Given the description of an element on the screen output the (x, y) to click on. 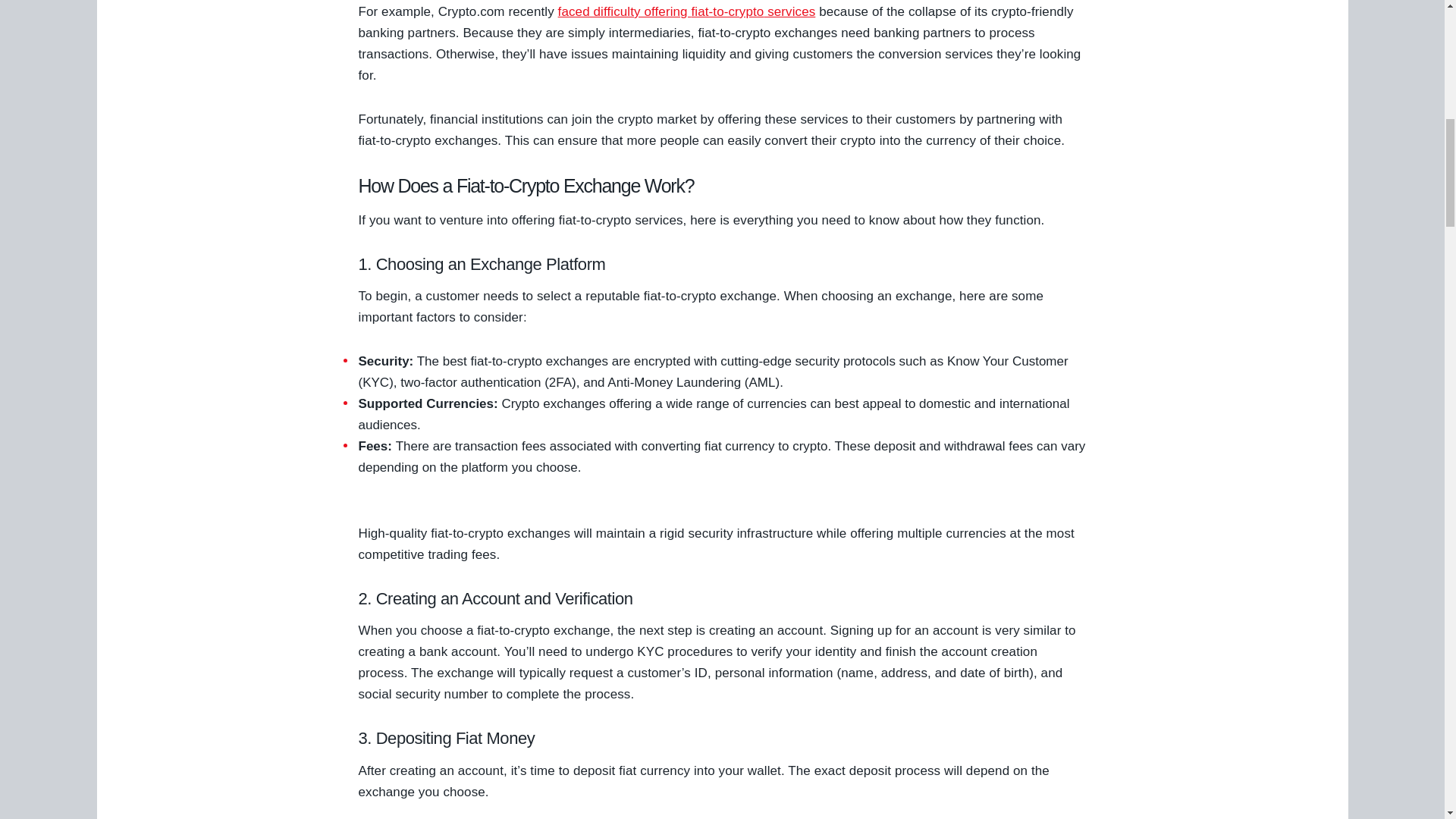
faced difficulty offering fiat-to-crypto services (686, 11)
